Given the description of an element on the screen output the (x, y) to click on. 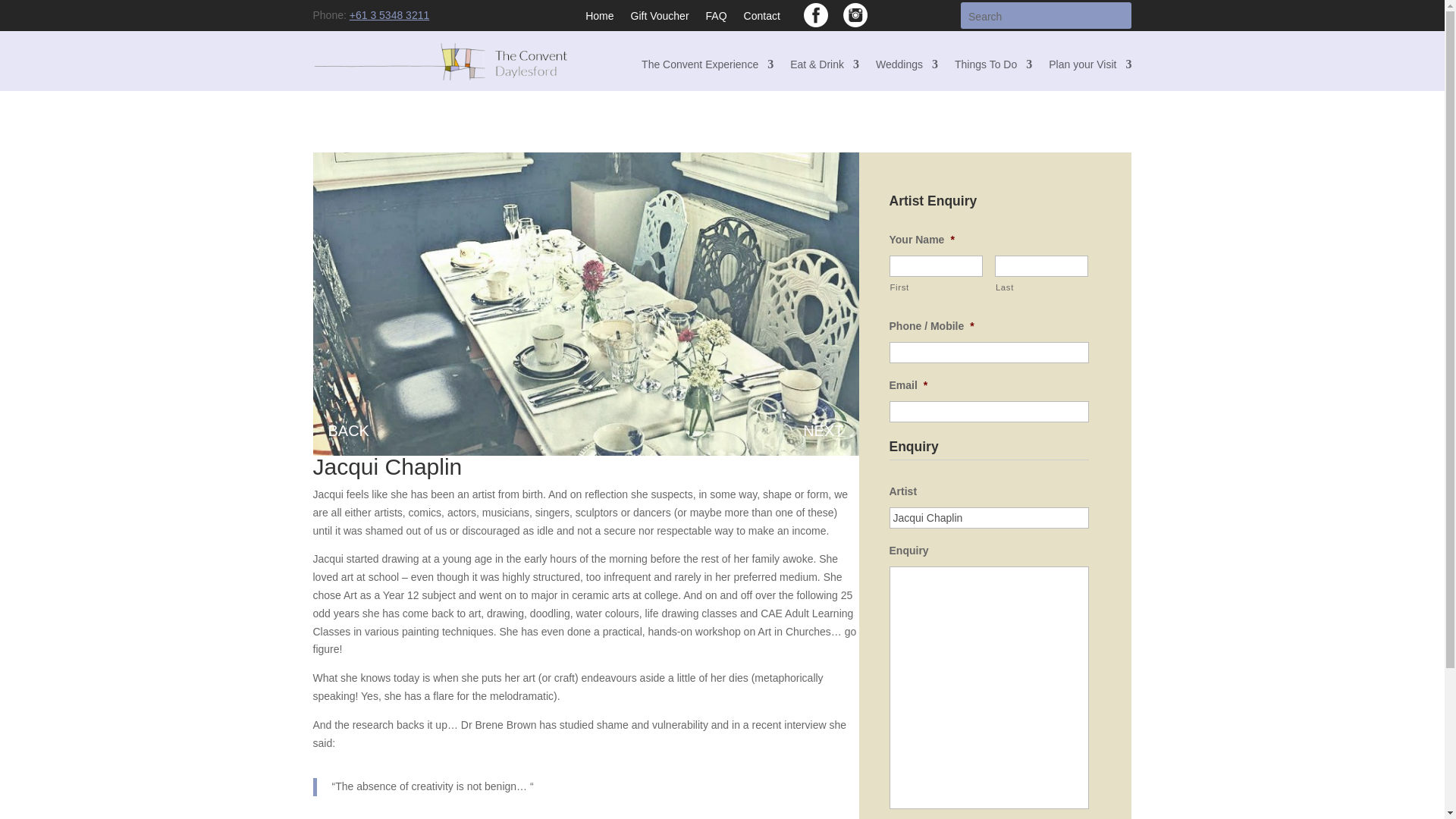
The Convent Experience (707, 67)
Home (598, 18)
FAQ (716, 18)
Jacqui Chaplin (988, 517)
Search (24, 13)
Gift Voucher (659, 18)
Contact (762, 18)
